Given the description of an element on the screen output the (x, y) to click on. 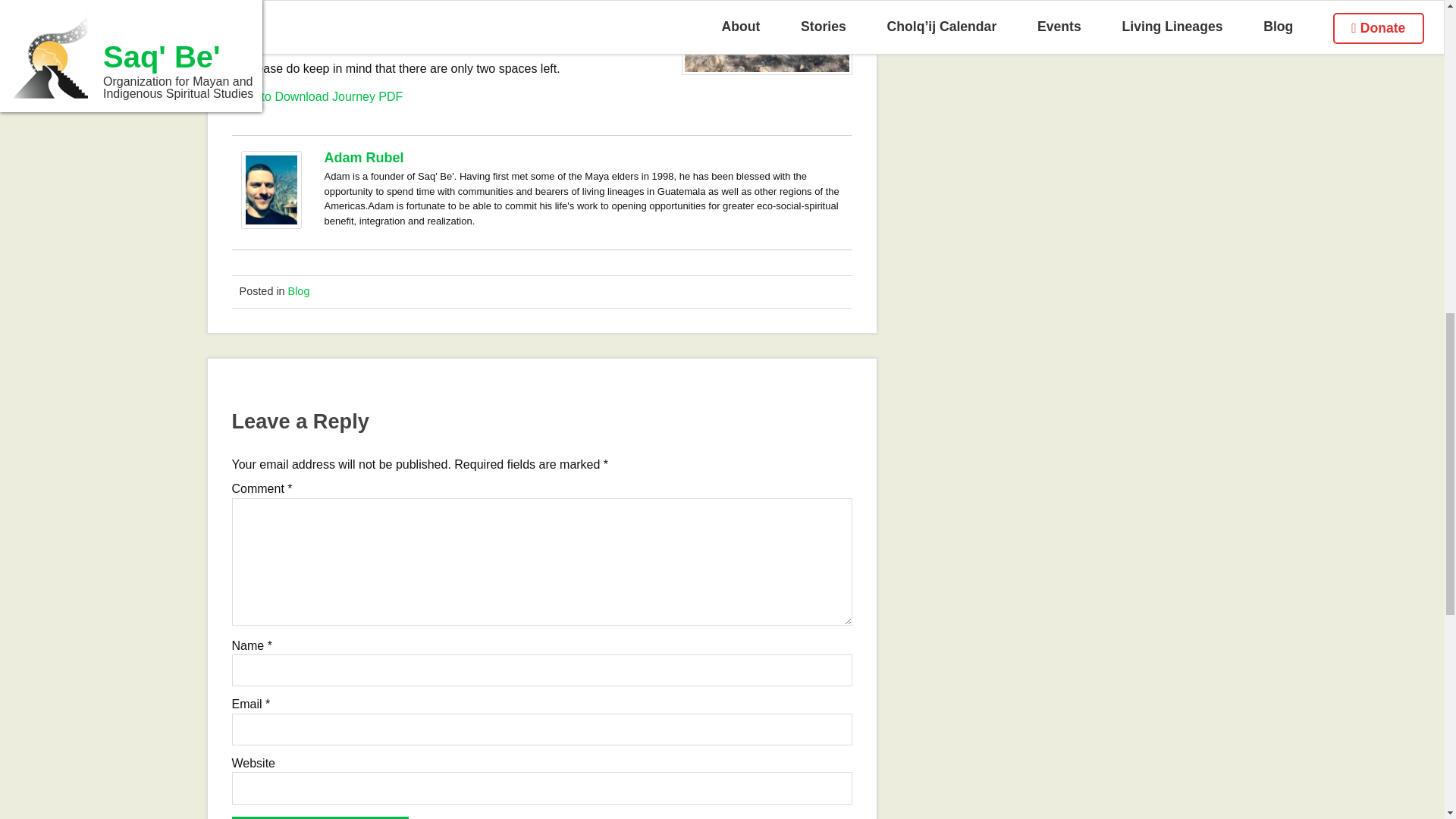
Click to Download Journey PDF (317, 96)
Post Comment (320, 817)
Post Comment (320, 817)
Adam Rubel (271, 224)
Blog (299, 291)
Adam Rubel (364, 157)
